Given the description of an element on the screen output the (x, y) to click on. 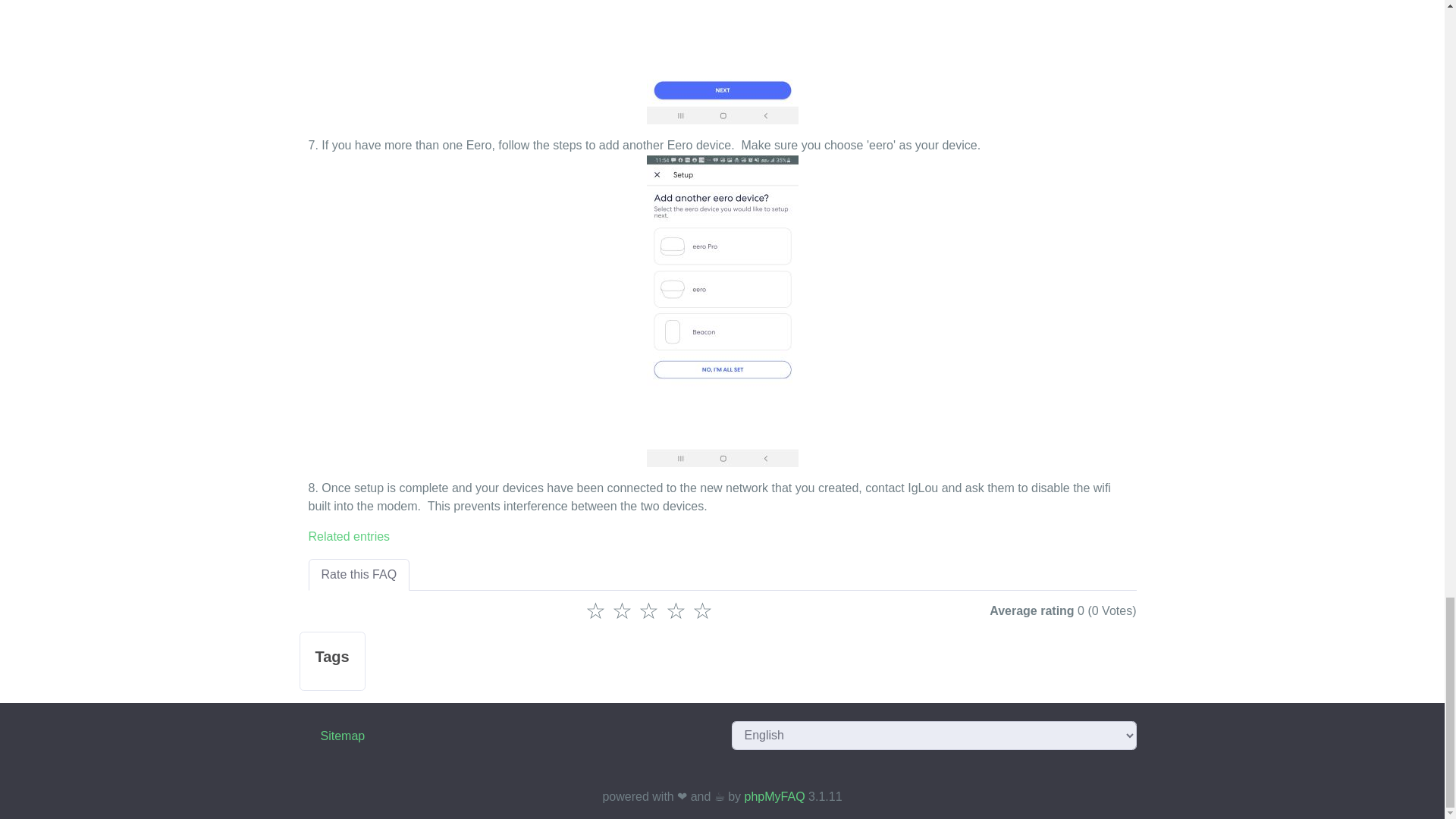
Sitemap (342, 735)
Related entries (348, 535)
Rate this FAQ (358, 574)
phpMyFAQ (774, 796)
